Given the description of an element on the screen output the (x, y) to click on. 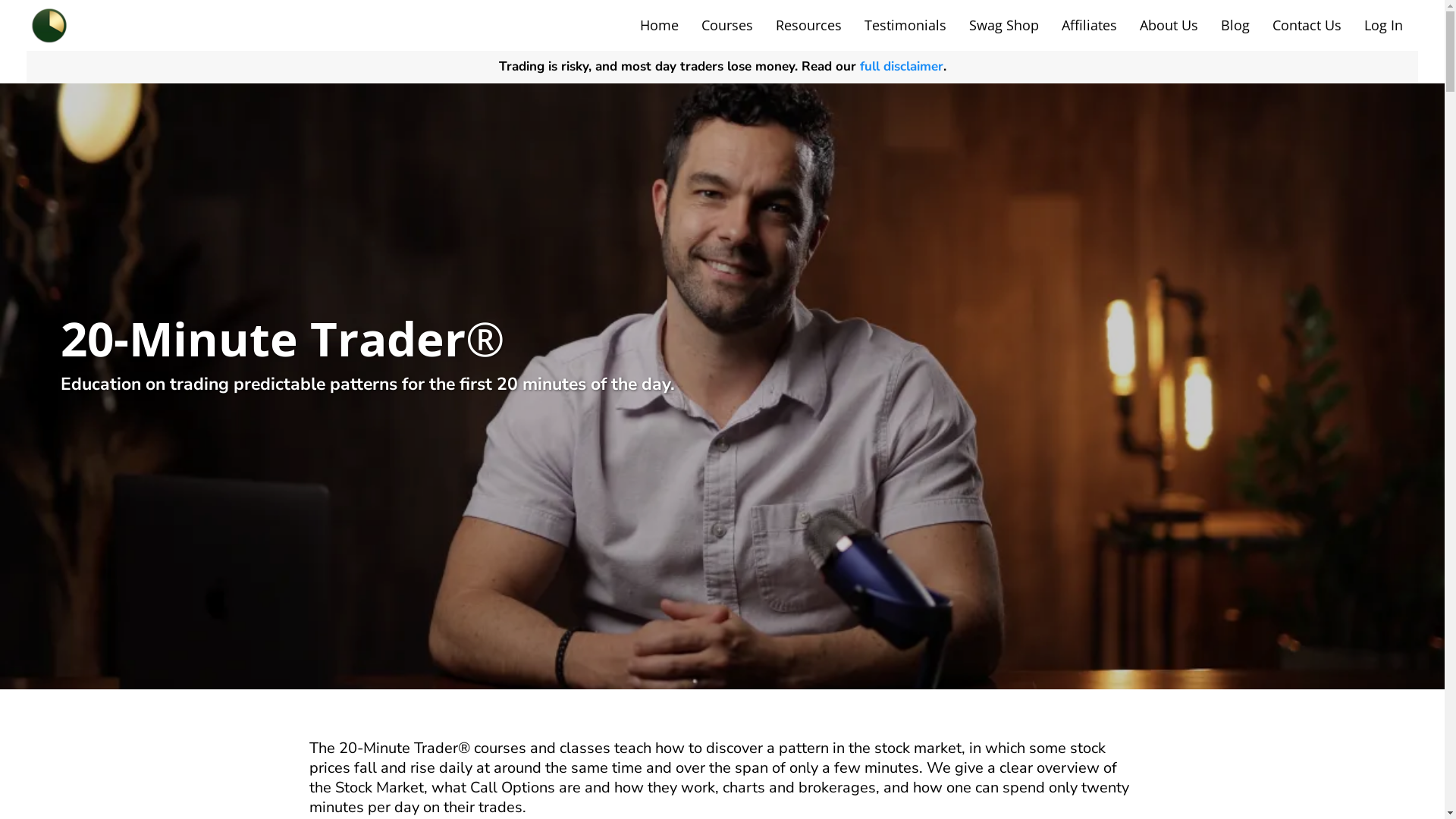
Courses Element type: text (727, 25)
Resources Element type: text (808, 25)
Swag Shop Element type: text (1003, 25)
Blog Element type: text (1235, 25)
full disclaimer Element type: text (901, 66)
Log In Element type: text (1383, 25)
Home Element type: text (659, 25)
About Us Element type: text (1168, 25)
Testimonials Element type: text (905, 25)
Contact Us Element type: text (1306, 25)
Affiliates Element type: text (1089, 25)
